Given the description of an element on the screen output the (x, y) to click on. 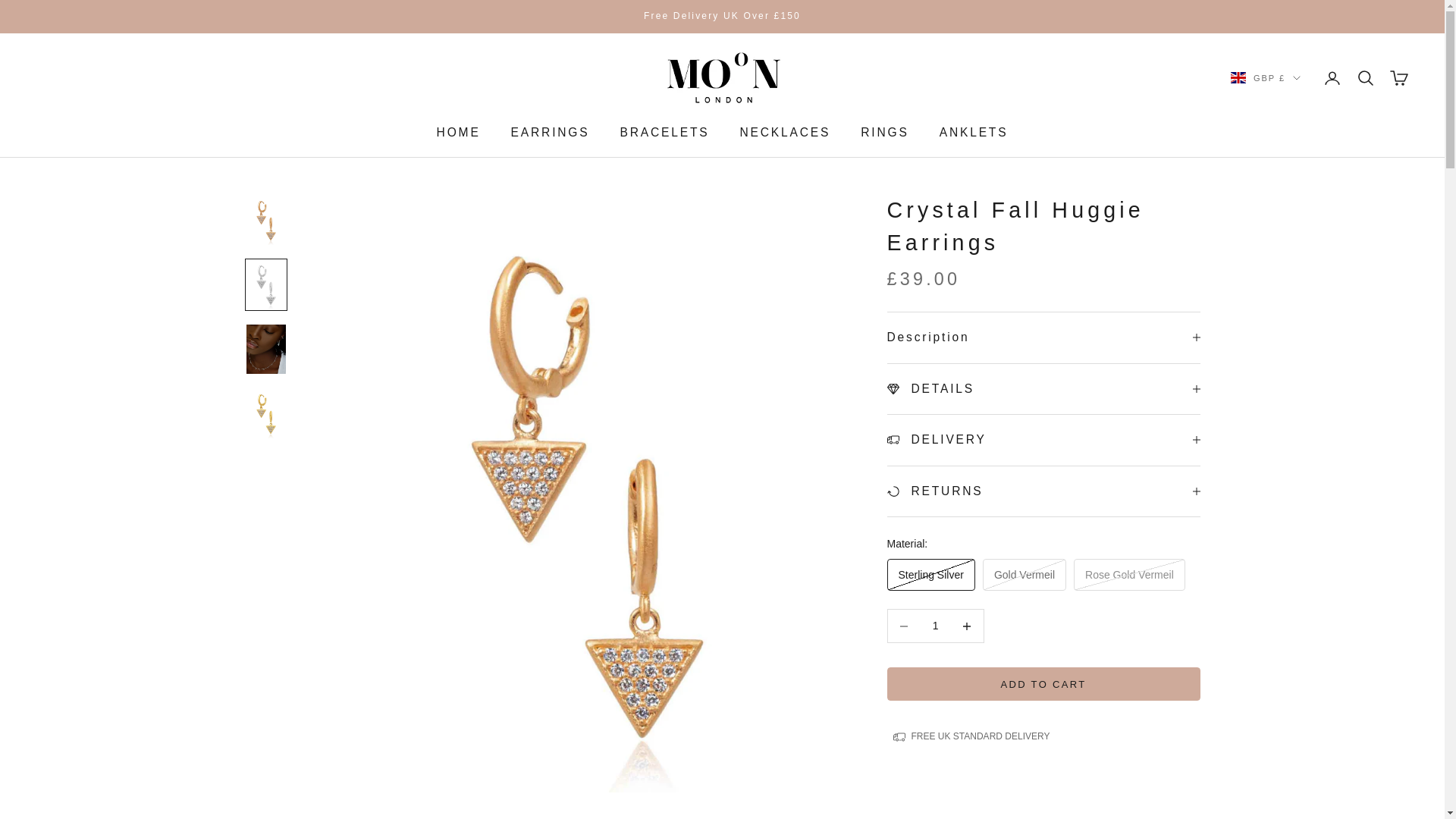
Moon London (721, 77)
1 (935, 625)
